Given the description of an element on the screen output the (x, y) to click on. 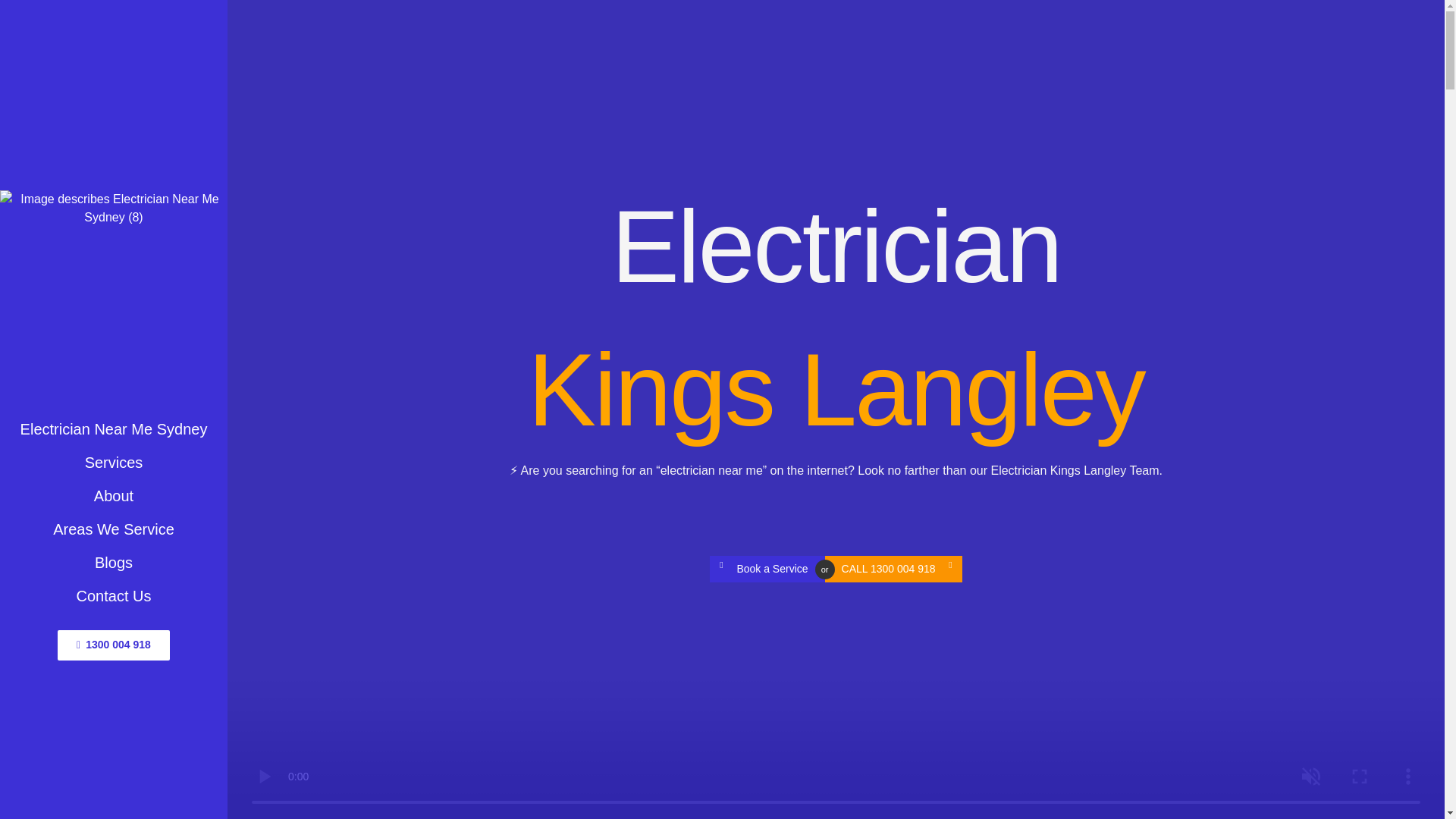
Electrician Near Me Sydney (113, 428)
Contact Us (113, 595)
Services (113, 462)
About (113, 495)
1300 004 918 (114, 644)
Blogs (113, 562)
CALL 1300 004 918 (893, 568)
Book a Service (767, 568)
Areas We Service (113, 529)
